Given the description of an element on the screen output the (x, y) to click on. 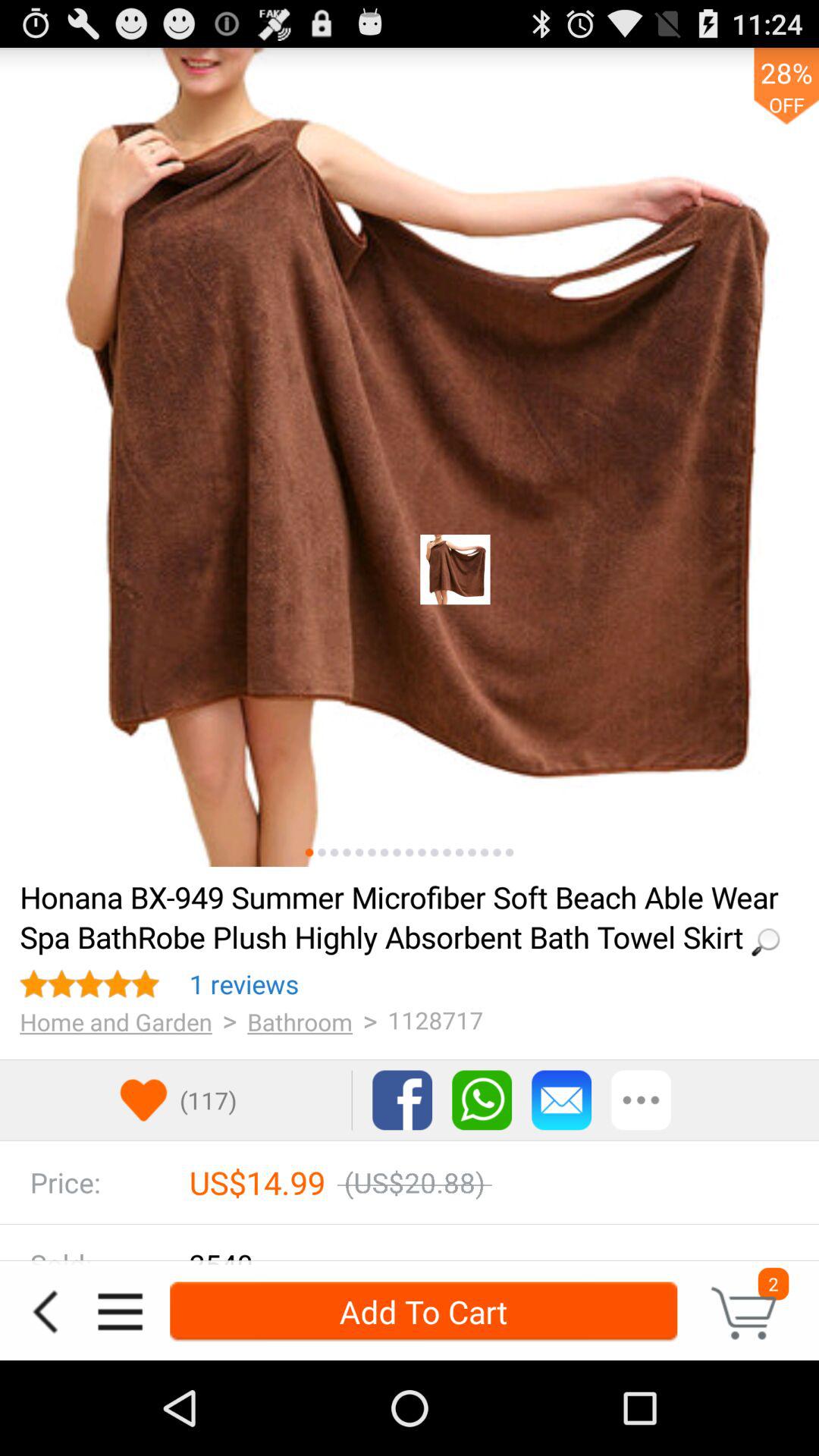
open image (409, 456)
